Given the description of an element on the screen output the (x, y) to click on. 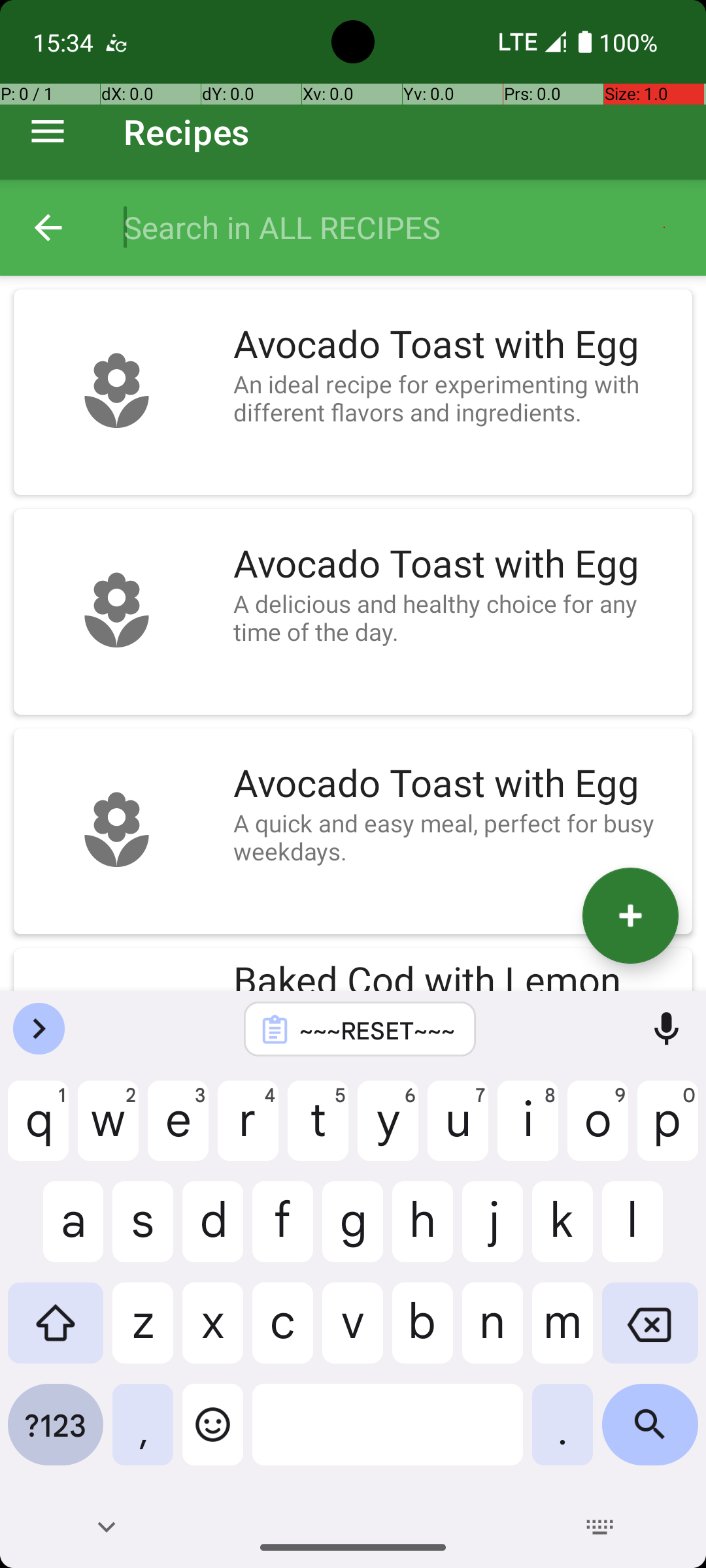
Search in ALL RECIPES Element type: android.widget.AutoCompleteTextView (400, 227)
